Given the description of an element on the screen output the (x, y) to click on. 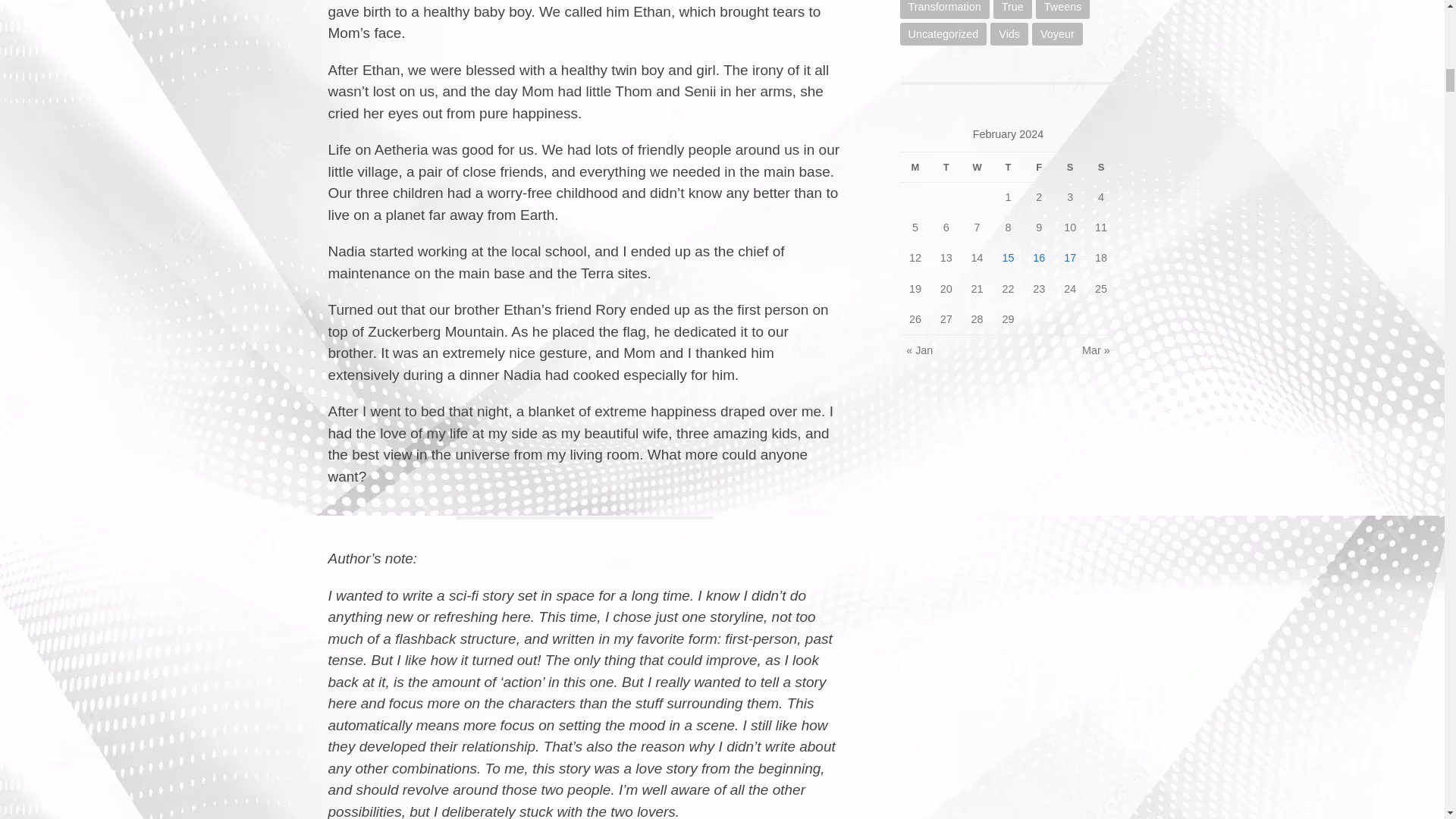
Tuesday (945, 166)
Monday (914, 166)
